Given the description of an element on the screen output the (x, y) to click on. 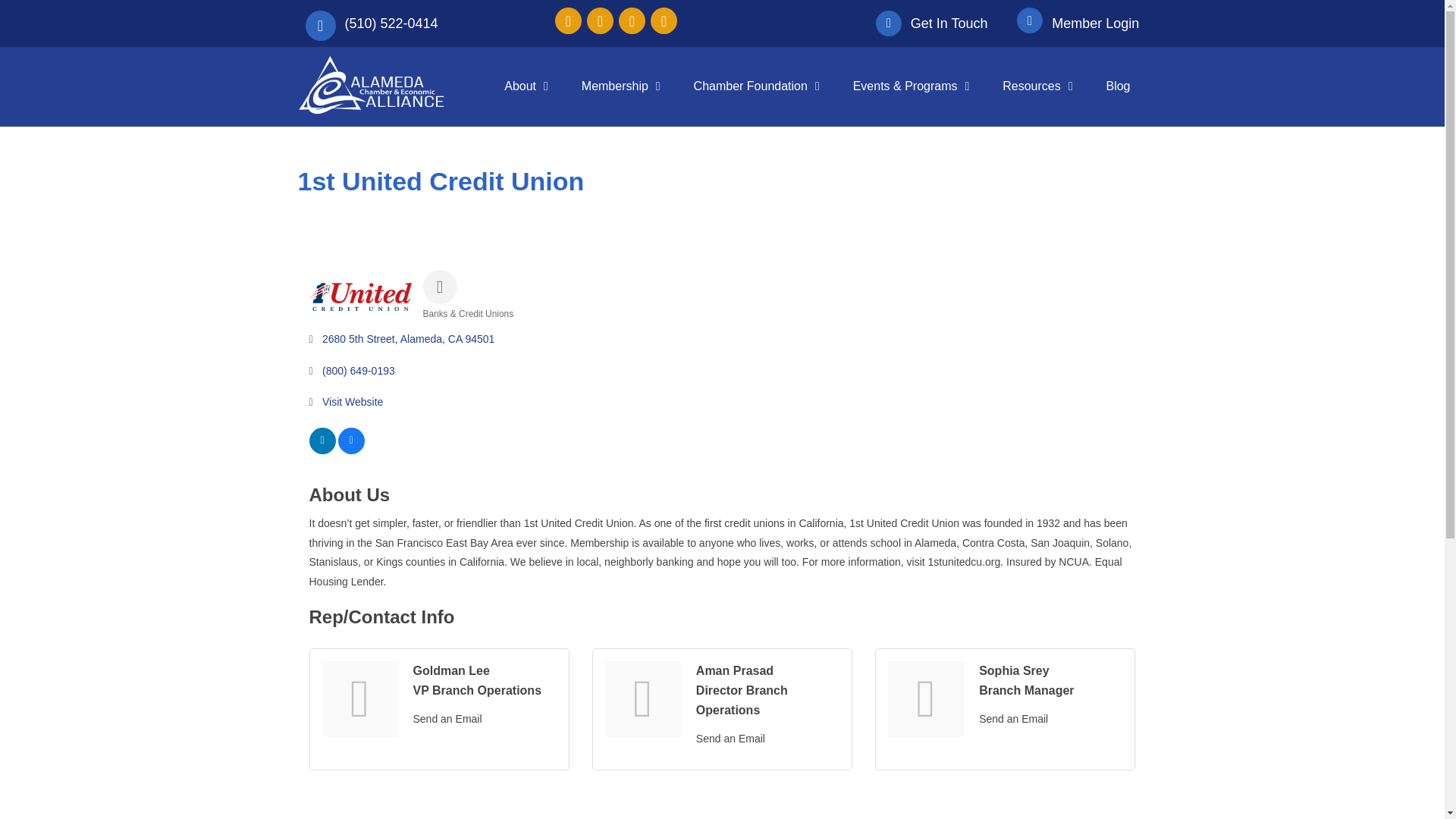
About (525, 86)
Member Login (1094, 23)
View on LinkedIn (322, 450)
1st United Credit Union (360, 296)
View on Facebook (351, 450)
Resources (1037, 86)
Chamber Foundation (756, 86)
Get In Touch (949, 23)
Membership (620, 86)
